Given the description of an element on the screen output the (x, y) to click on. 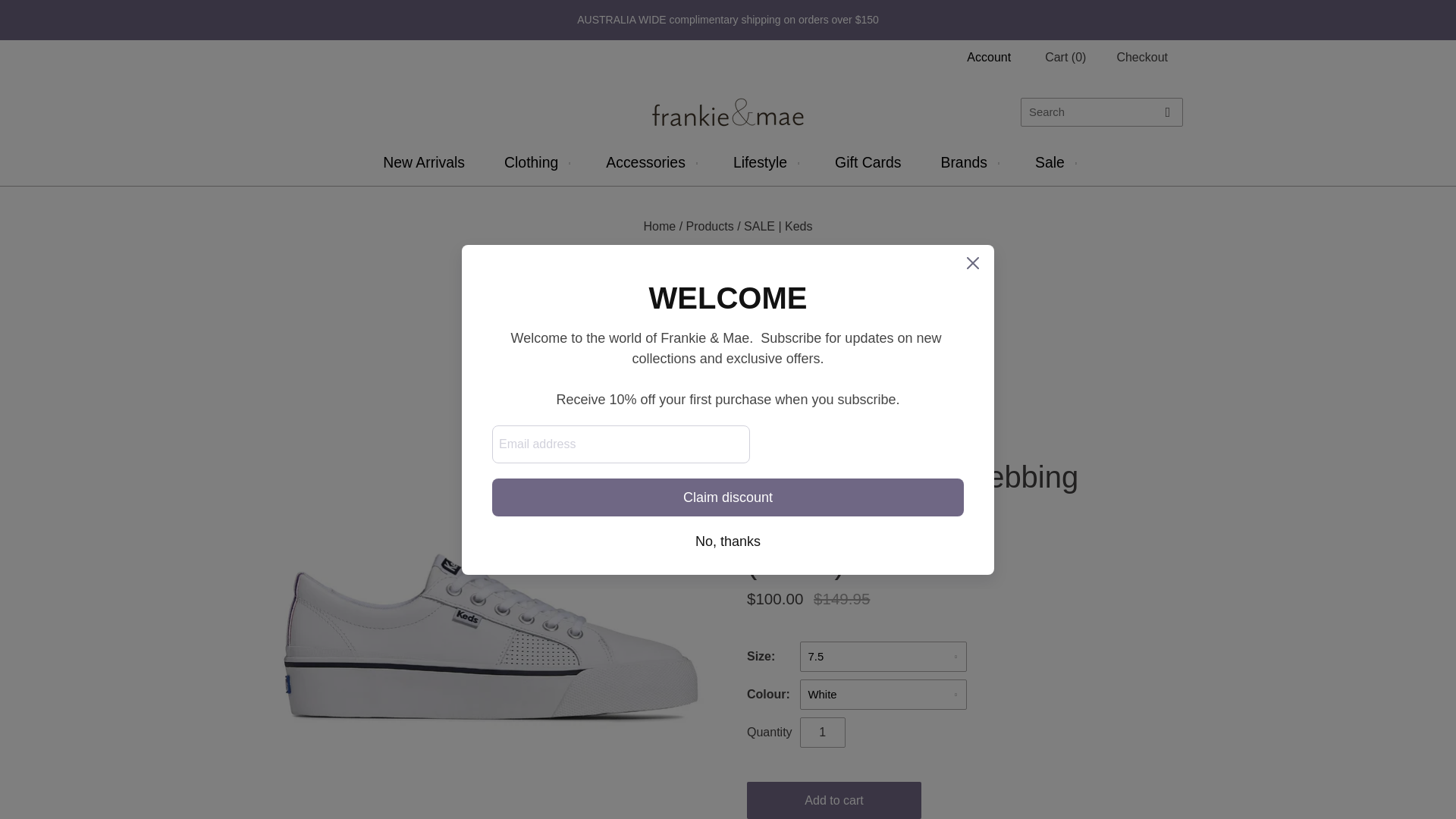
New Arrivals (423, 162)
Lifestyle (764, 162)
Accessories (649, 162)
Checkout (1141, 57)
Account (988, 56)
Clothing (535, 162)
Add to cart (833, 800)
1 (822, 732)
